Given the description of an element on the screen output the (x, y) to click on. 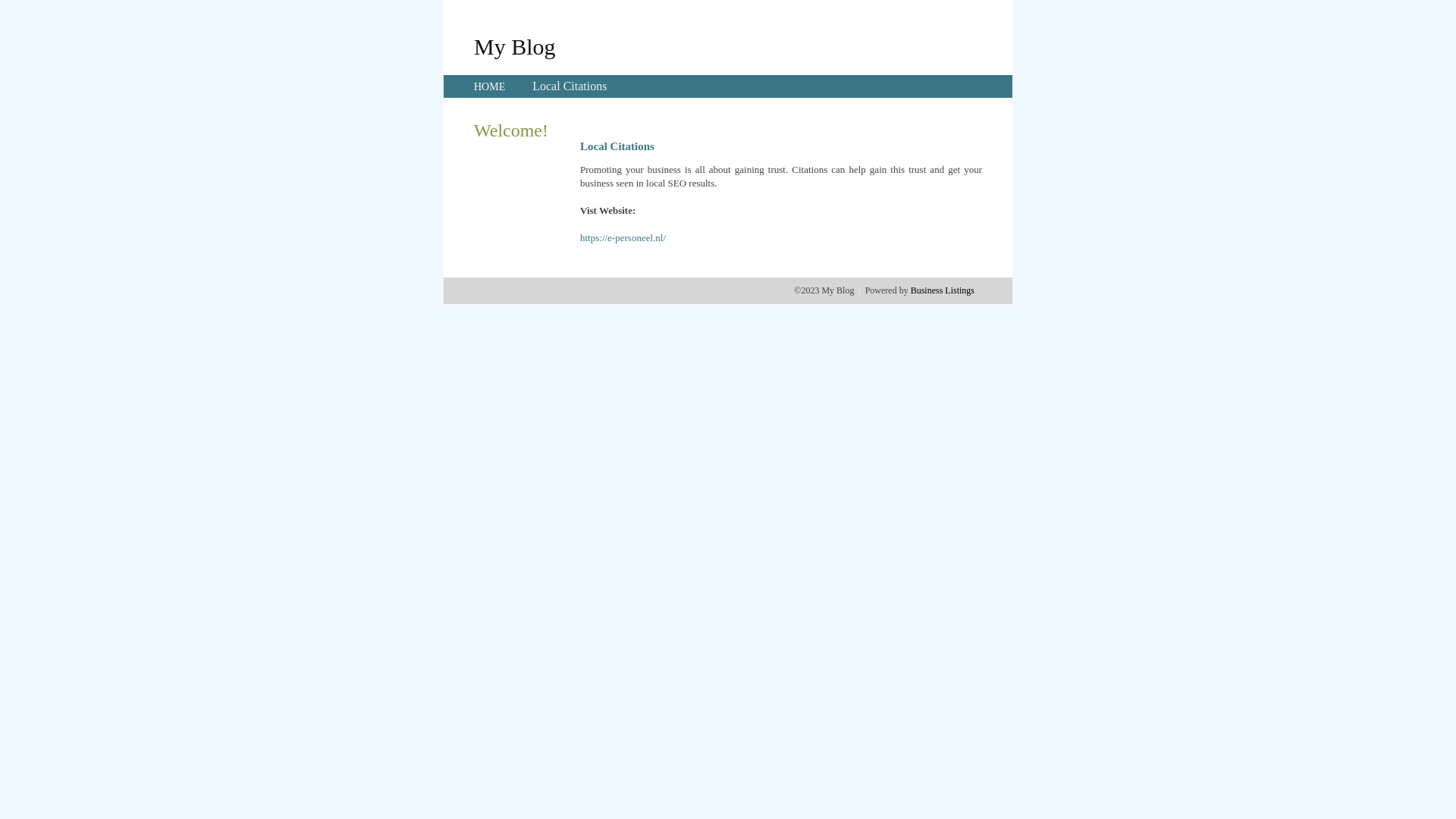
HOME Element type: text (489, 86)
My Blog Element type: text (514, 46)
https://e-personeel.nl/ Element type: text (622, 237)
Business Listings Element type: text (942, 290)
Local Citations Element type: text (569, 85)
